Given the description of an element on the screen output the (x, y) to click on. 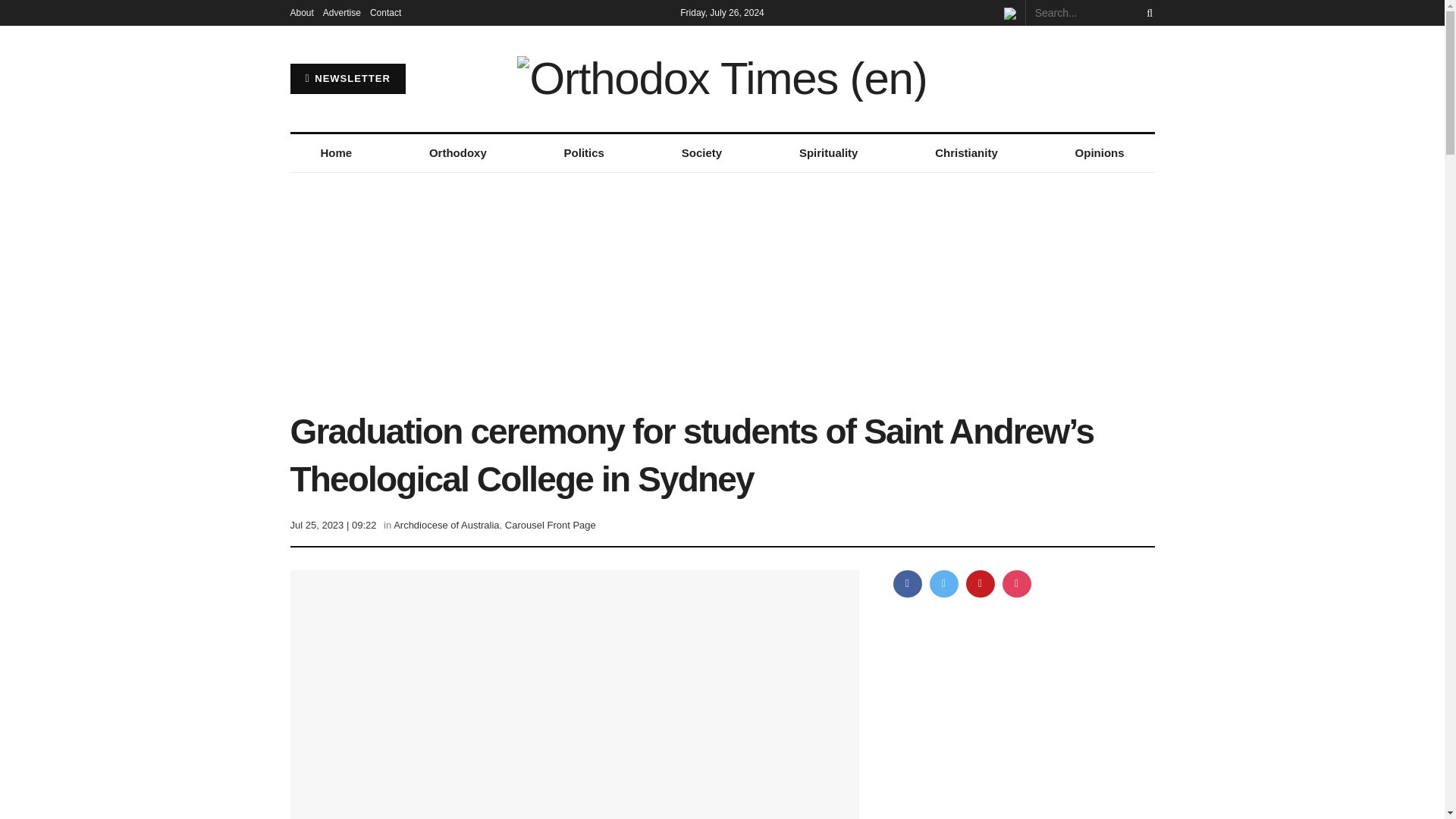
Spirituality (828, 152)
Contact (385, 12)
NEWSLETTER (346, 78)
Orthodoxy (457, 152)
About (301, 12)
Politics (584, 152)
Society (701, 152)
Advertise (342, 12)
Home (335, 152)
